Given the description of an element on the screen output the (x, y) to click on. 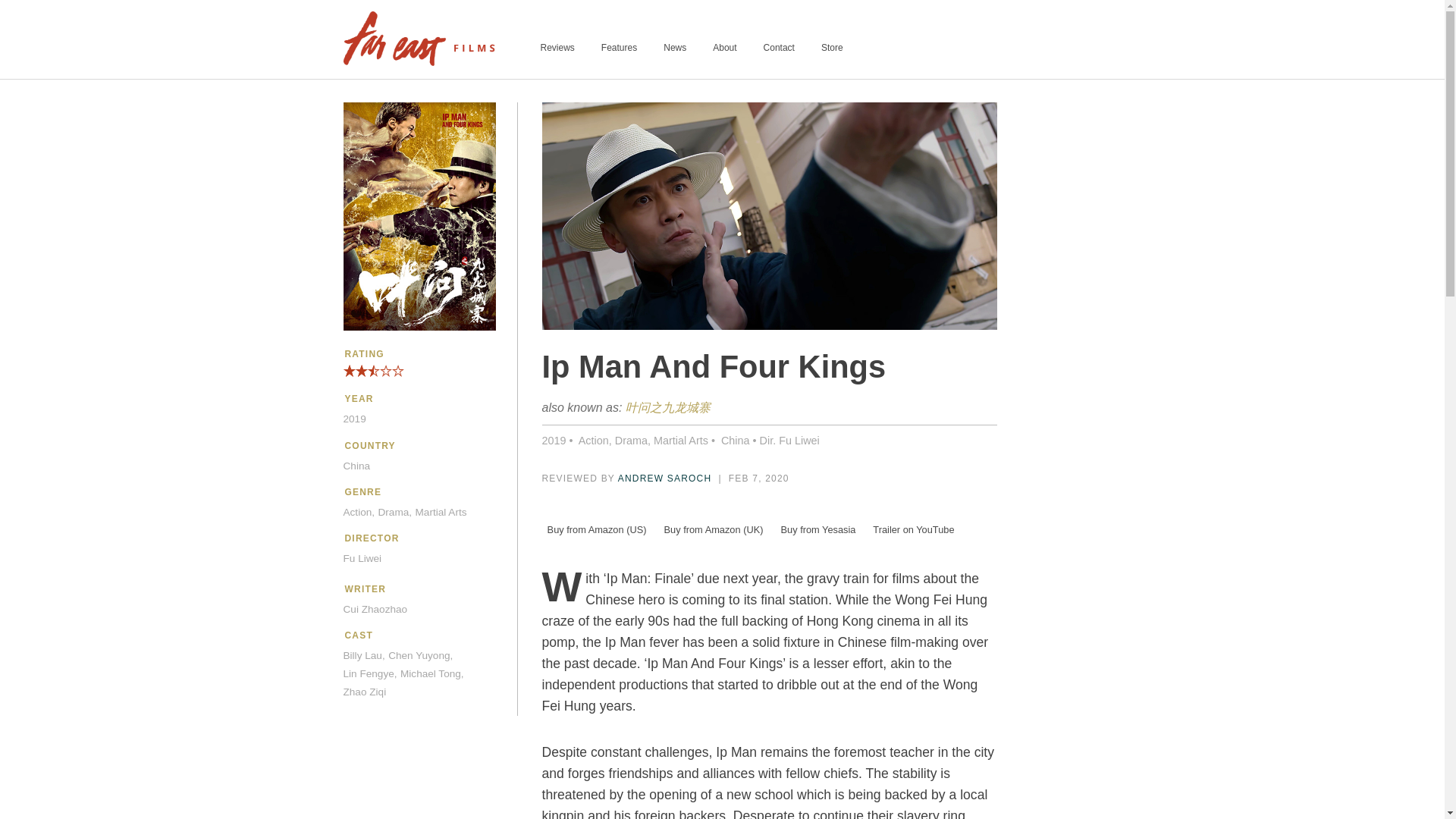
Billy Lau, (363, 655)
China (355, 466)
Cui Zhaozhao (374, 609)
News (674, 47)
Posts by Andrew Saroch (664, 478)
Drama, (395, 512)
Lin Fengye, (369, 673)
About (724, 47)
Zhao Ziqi (363, 692)
Fu Liwei (798, 440)
Drama (630, 440)
Fu Liwei (361, 558)
Action, (358, 512)
Michael Tong, (432, 673)
2019 (553, 440)
